Given the description of an element on the screen output the (x, y) to click on. 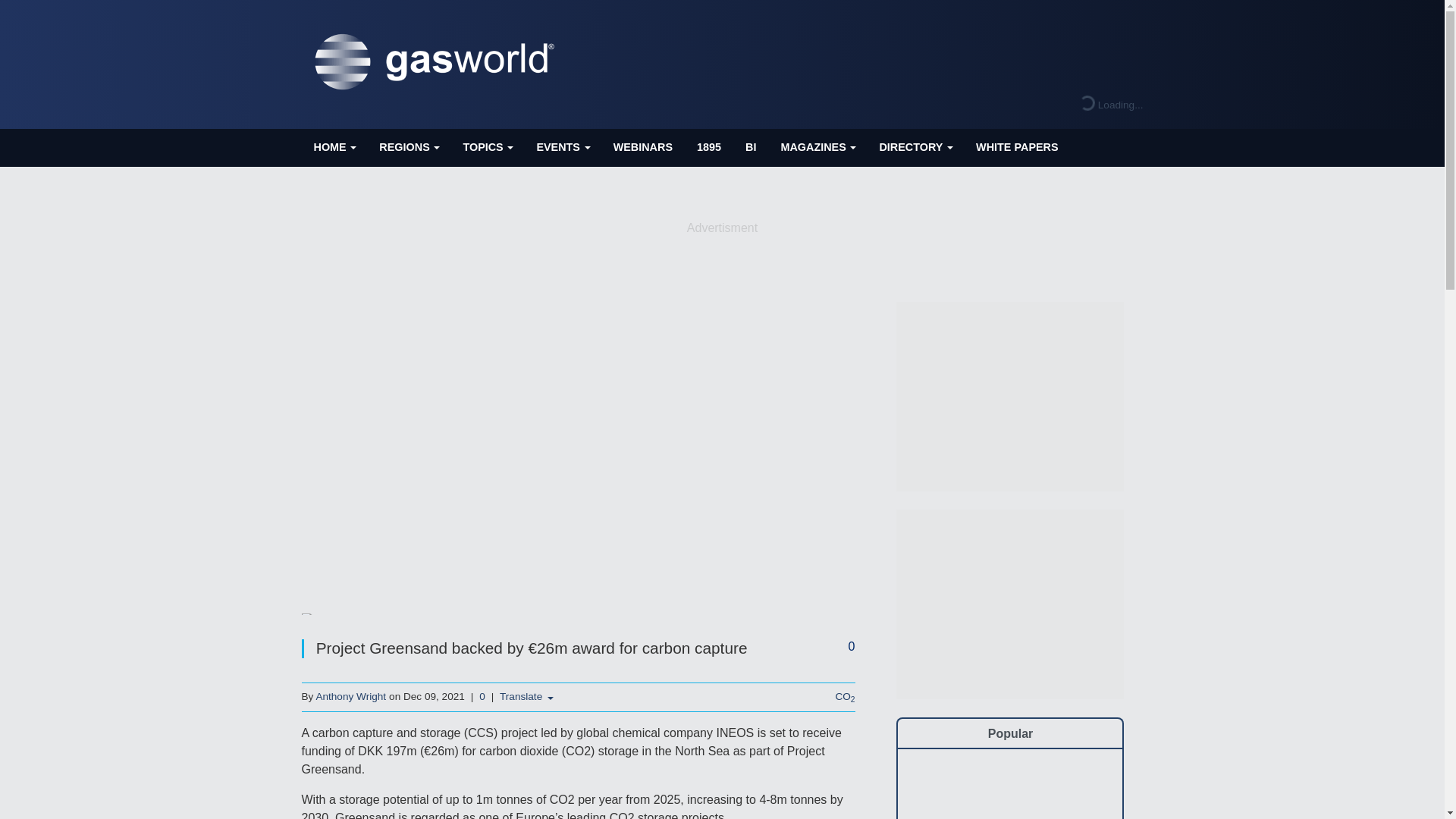
Home (334, 146)
TOPICS (486, 146)
gasworld (438, 62)
Topics (486, 146)
HOME (334, 146)
Regions (407, 146)
REGIONS (407, 146)
